Given the description of an element on the screen output the (x, y) to click on. 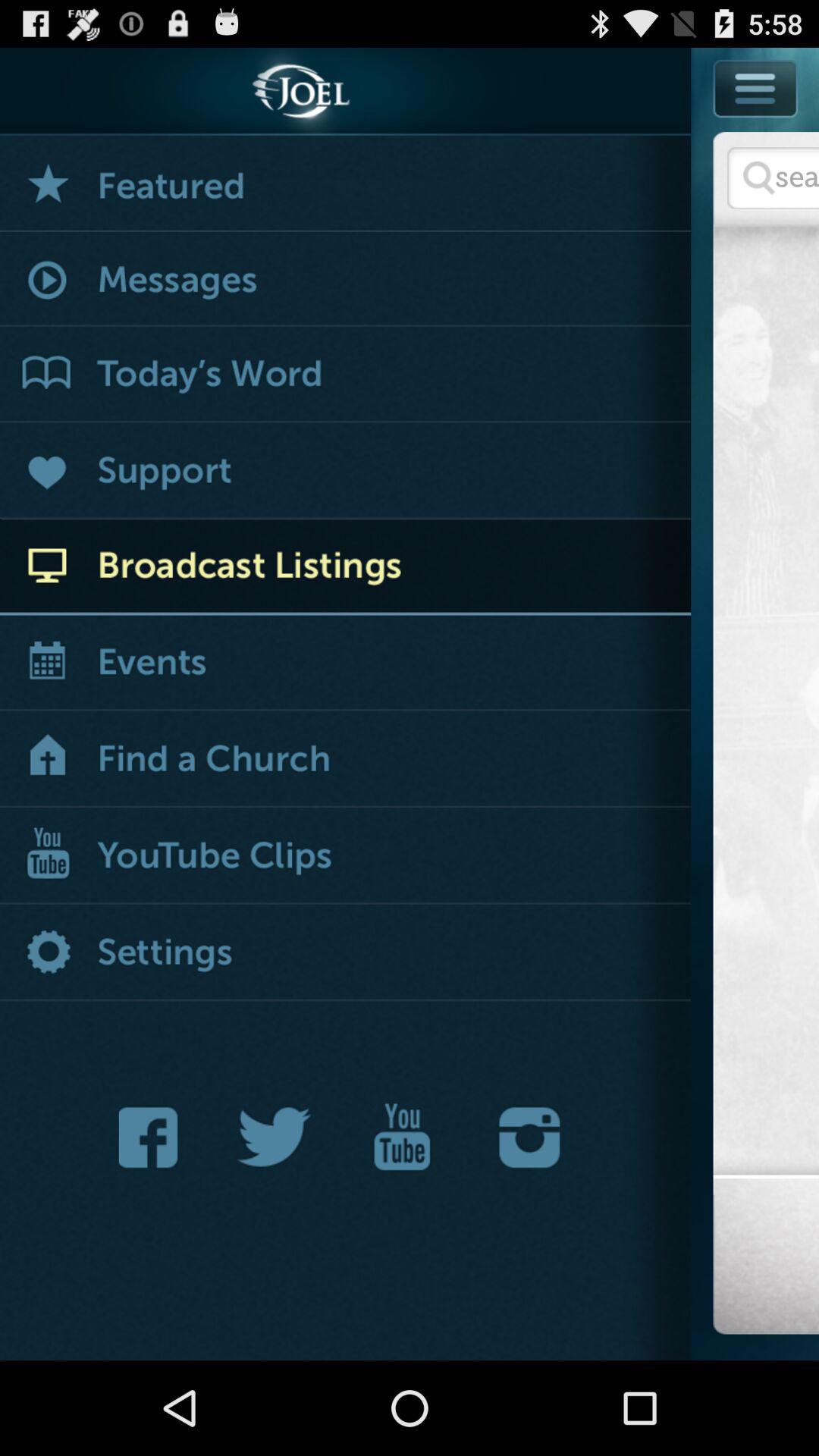
open calender (345, 663)
